Given the description of an element on the screen output the (x, y) to click on. 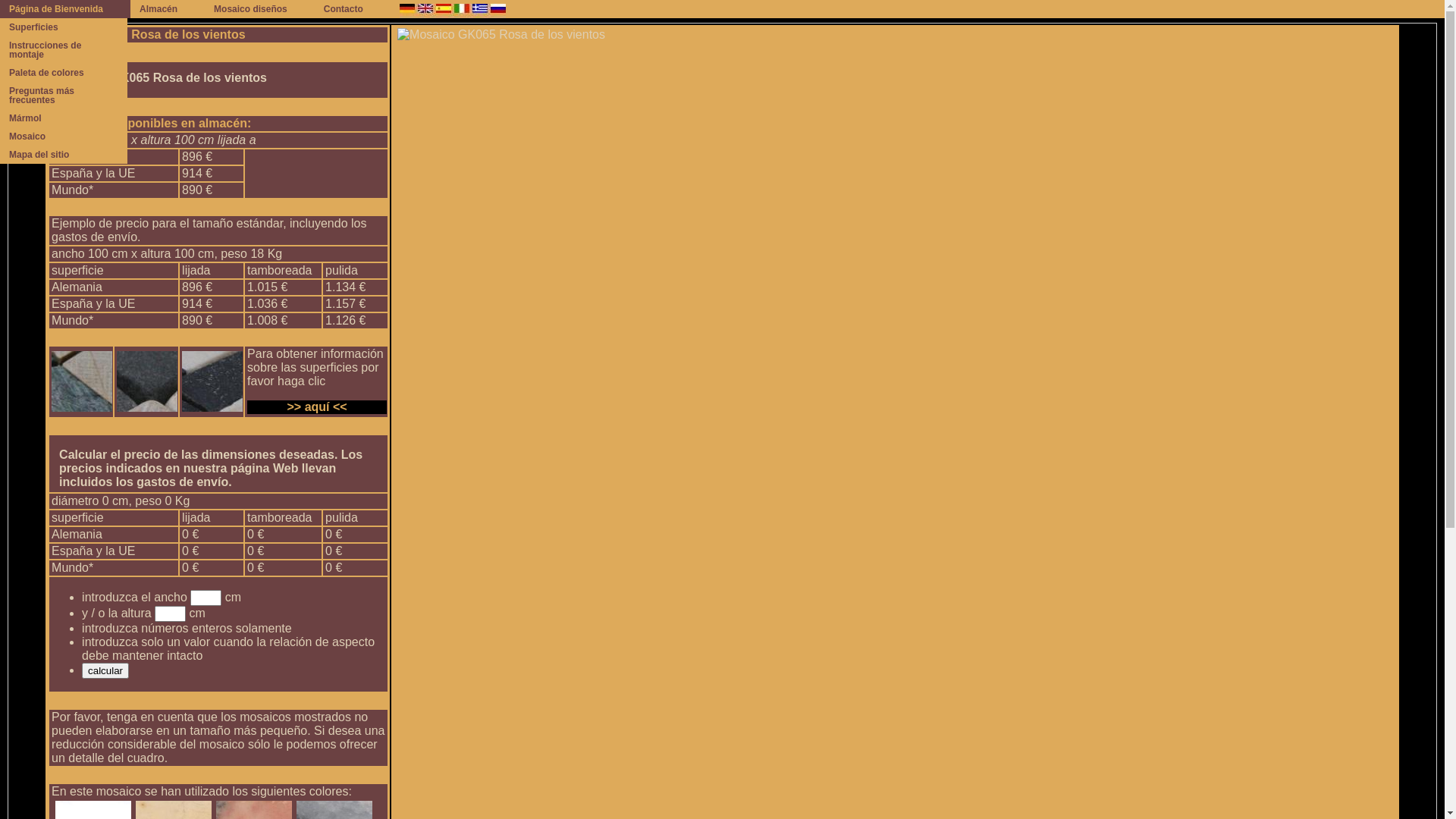
Paleta de colores Element type: text (63, 72)
calcular Element type: text (104, 670)
Instrucciones de montaje Element type: text (63, 49)
choose language Element type: hover (461, 9)
Mapa del sitio Element type: text (63, 154)
Superficies Element type: text (63, 27)
 Piso  Element type: text (67, 34)
Mosaico Element type: text (63, 136)
 Rosa de los vientos  Element type: text (188, 34)
Contacto Element type: text (352, 9)
